Given the description of an element on the screen output the (x, y) to click on. 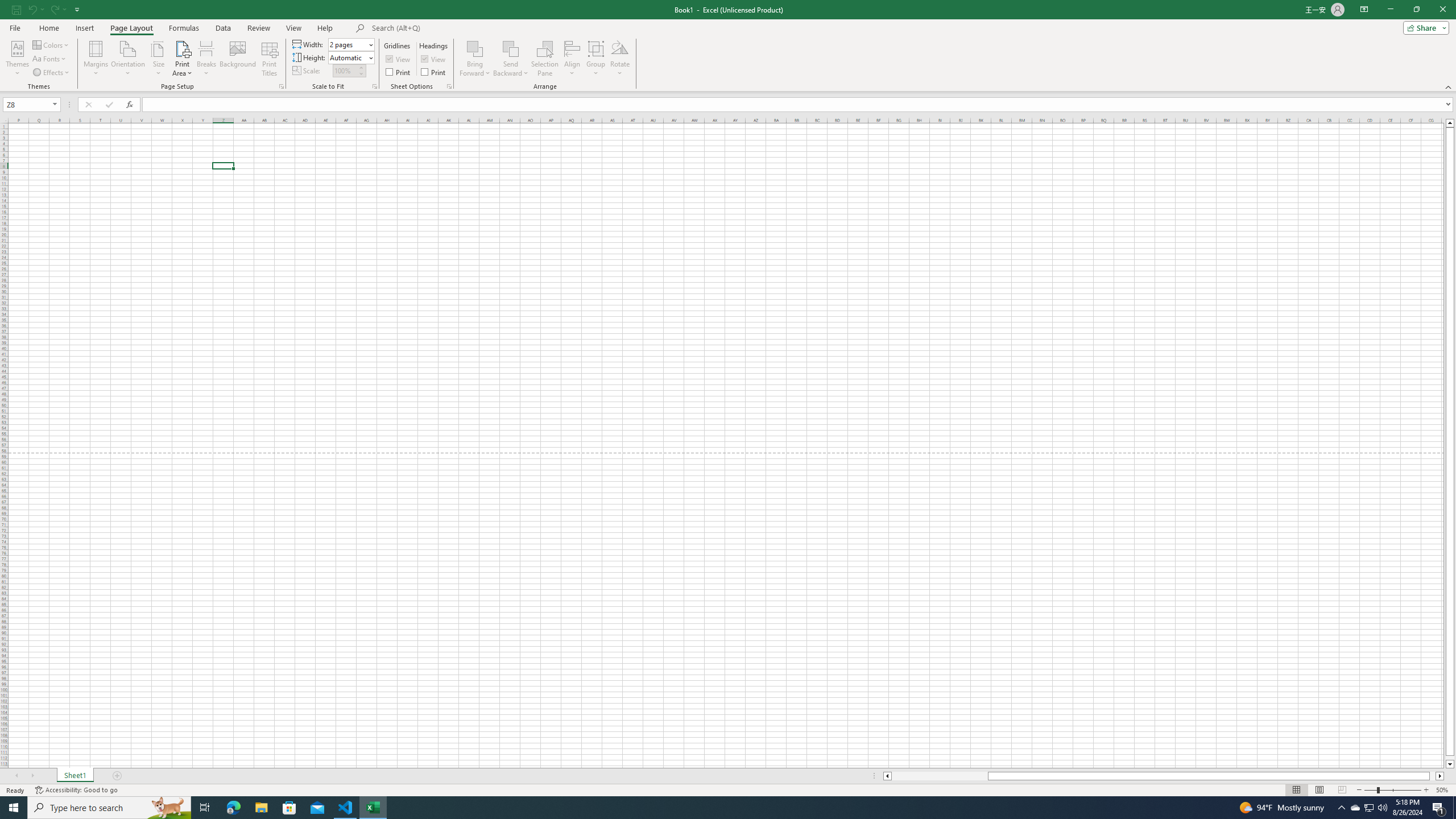
Scale (344, 70)
Send Backward (510, 58)
Breaks (206, 58)
Sheet Options (449, 85)
